Given the description of an element on the screen output the (x, y) to click on. 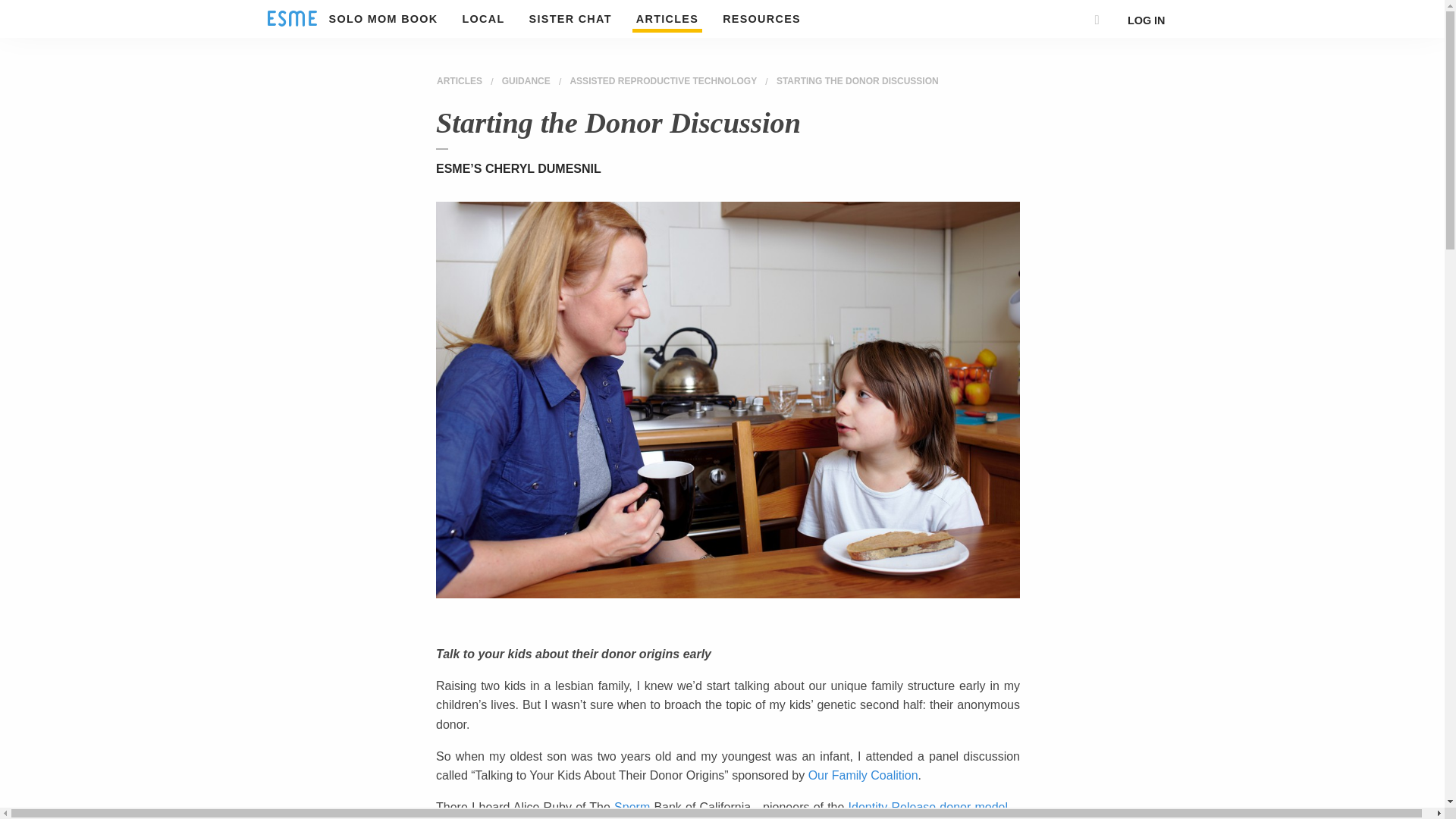
ARTICLES (458, 81)
ARTICLES (667, 18)
SISTER CHAT (570, 18)
RESOURCES (761, 18)
Sperm (631, 807)
SOLO MOM BOOK (383, 18)
ASSISTED REPRODUCTIVE TECHNOLOGY (663, 81)
LOG IN (1146, 20)
Our Family Coalition (863, 775)
GUIDANCE (526, 81)
LOCAL (482, 18)
Identity-Release donor model (927, 807)
